Given the description of an element on the screen output the (x, y) to click on. 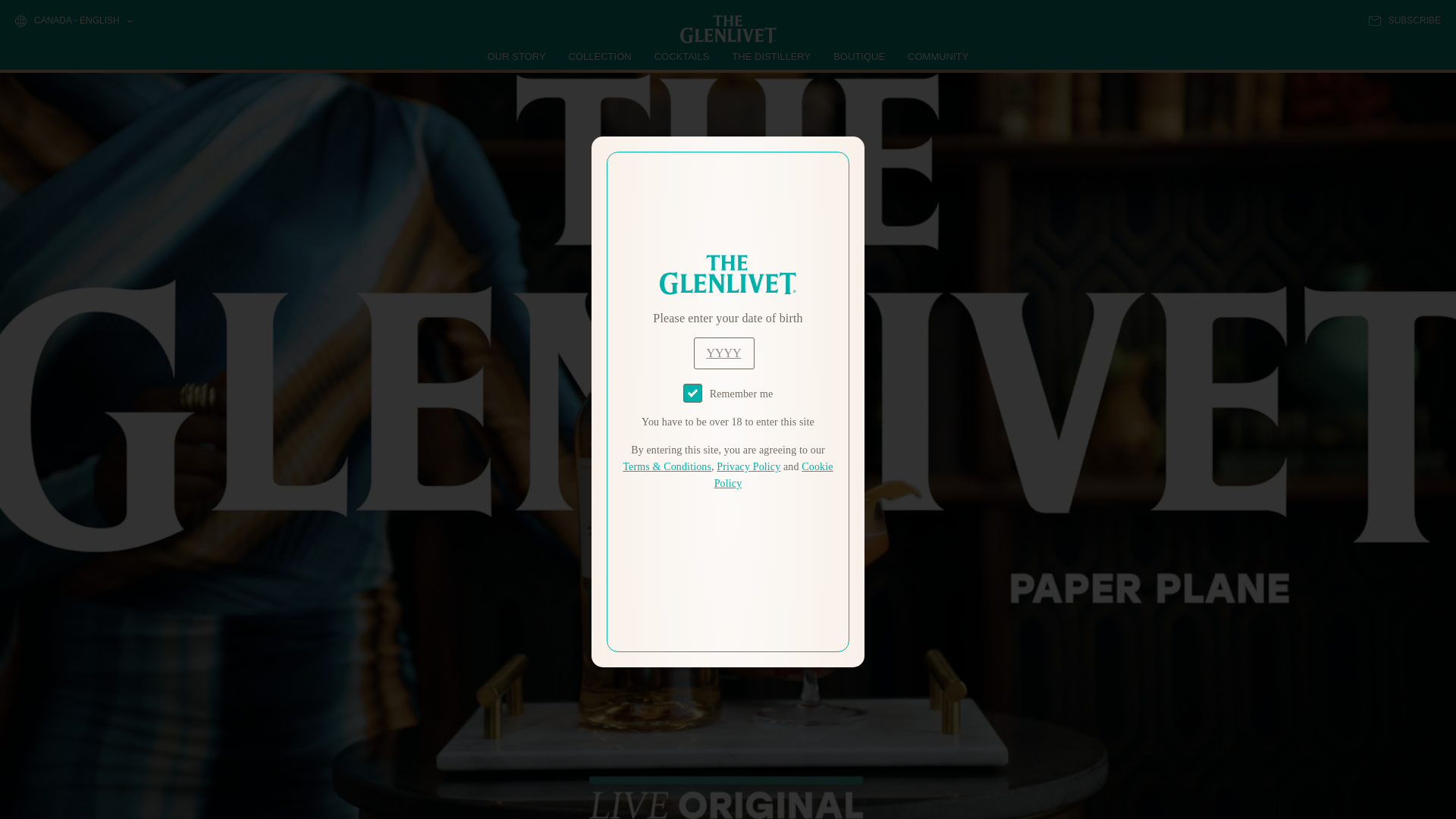
COCKTAILS (681, 56)
year (723, 353)
THE DISTILLERY (771, 56)
BOUTIQUE (858, 56)
Cookie Policy (773, 474)
Privacy Policy (748, 466)
COLLECTION (600, 56)
SUBSCRIBE (1404, 20)
CANADA - ENGLISH (73, 21)
OUR STORY (516, 56)
COMMUNITY (937, 56)
